Given the description of an element on the screen output the (x, y) to click on. 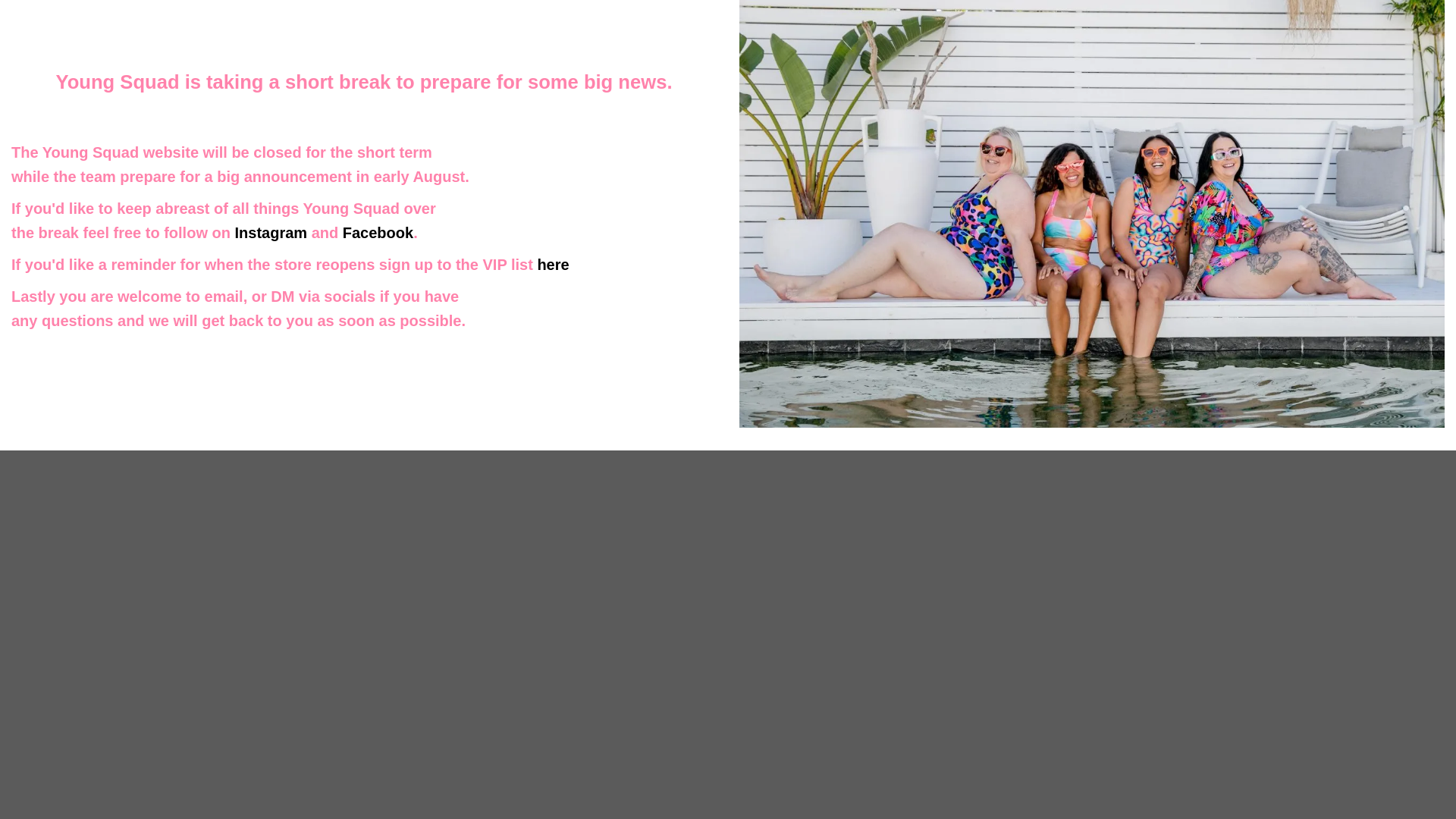
Facebook (377, 232)
Instagram (270, 232)
here (553, 264)
